Given the description of an element on the screen output the (x, y) to click on. 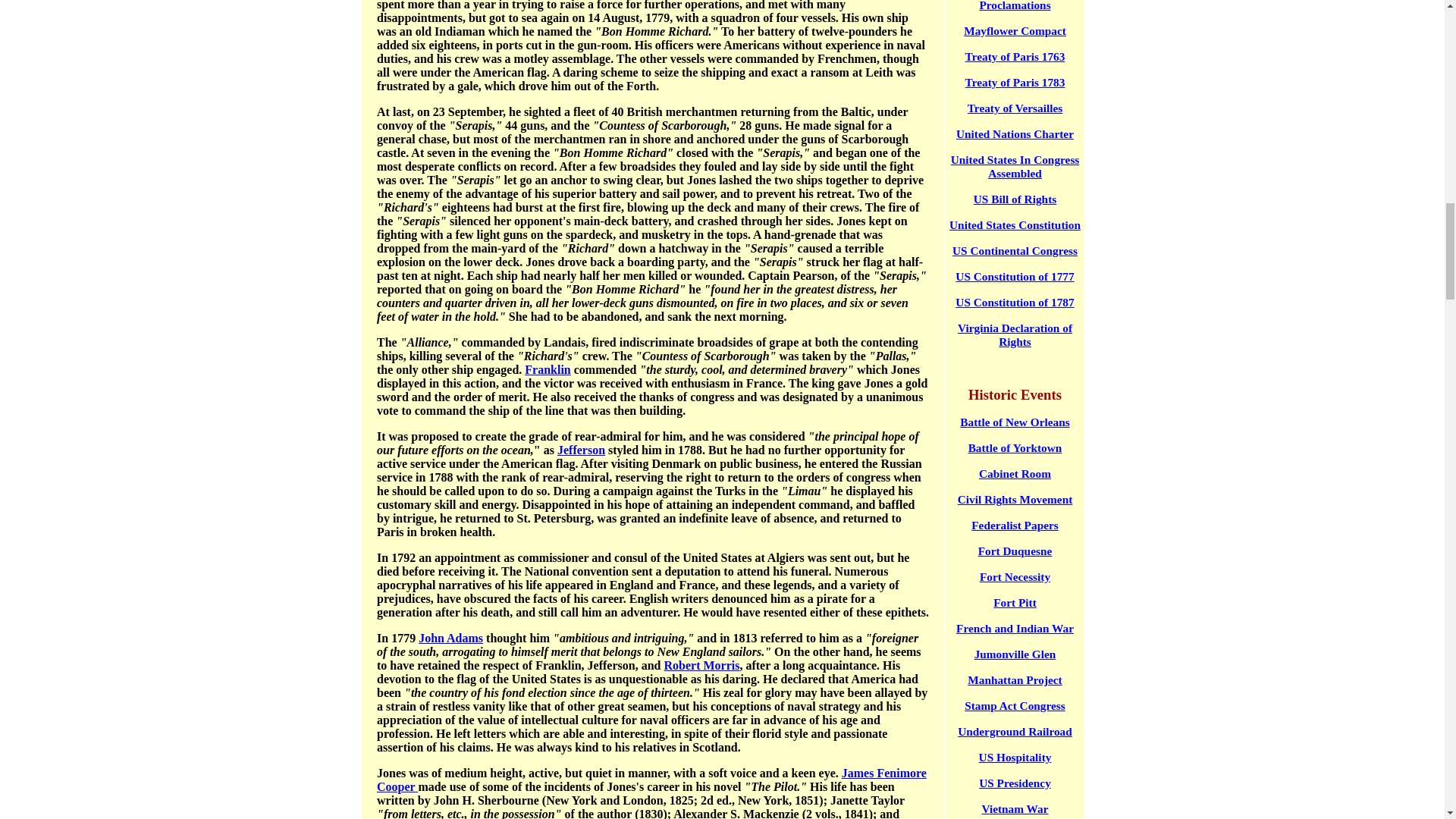
John Adams (451, 637)
Jefferson (581, 449)
James Fenimore Cooper (651, 779)
Robert Morris (701, 665)
Franklin (547, 369)
